Given the description of an element on the screen output the (x, y) to click on. 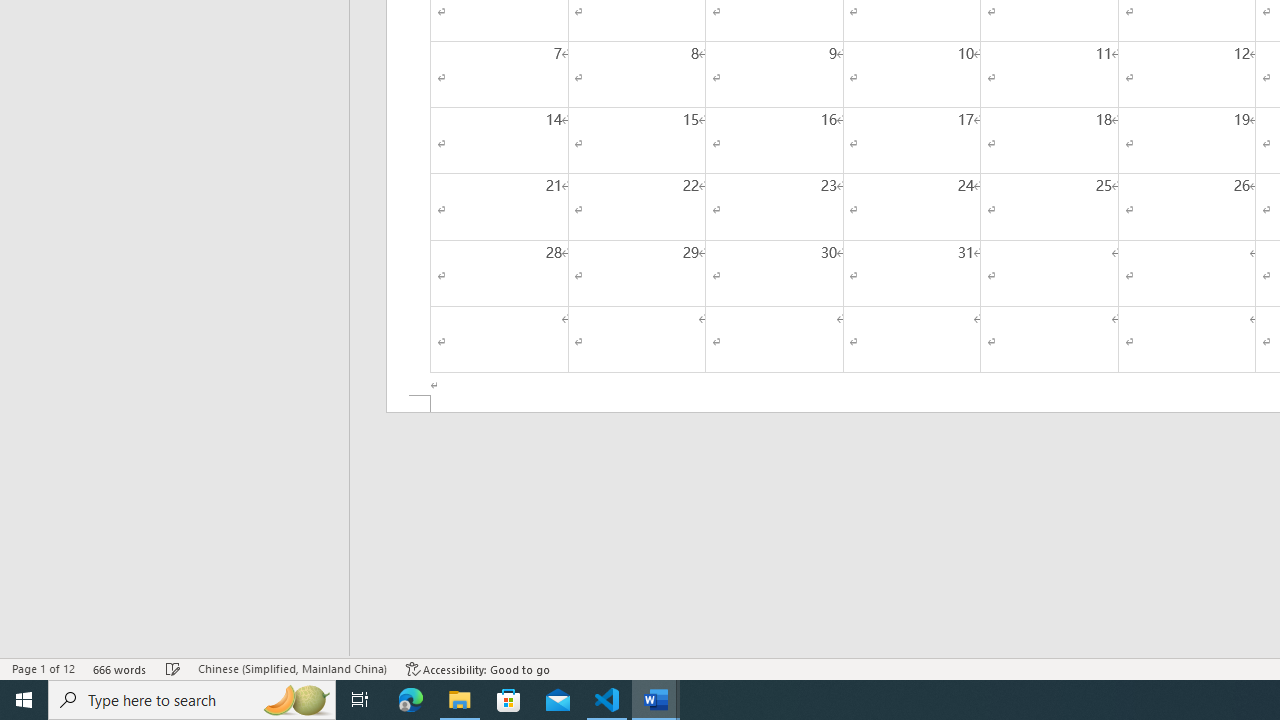
Word - 2 running windows (656, 699)
Page Number Page 1 of 12 (43, 668)
